Given the description of an element on the screen output the (x, y) to click on. 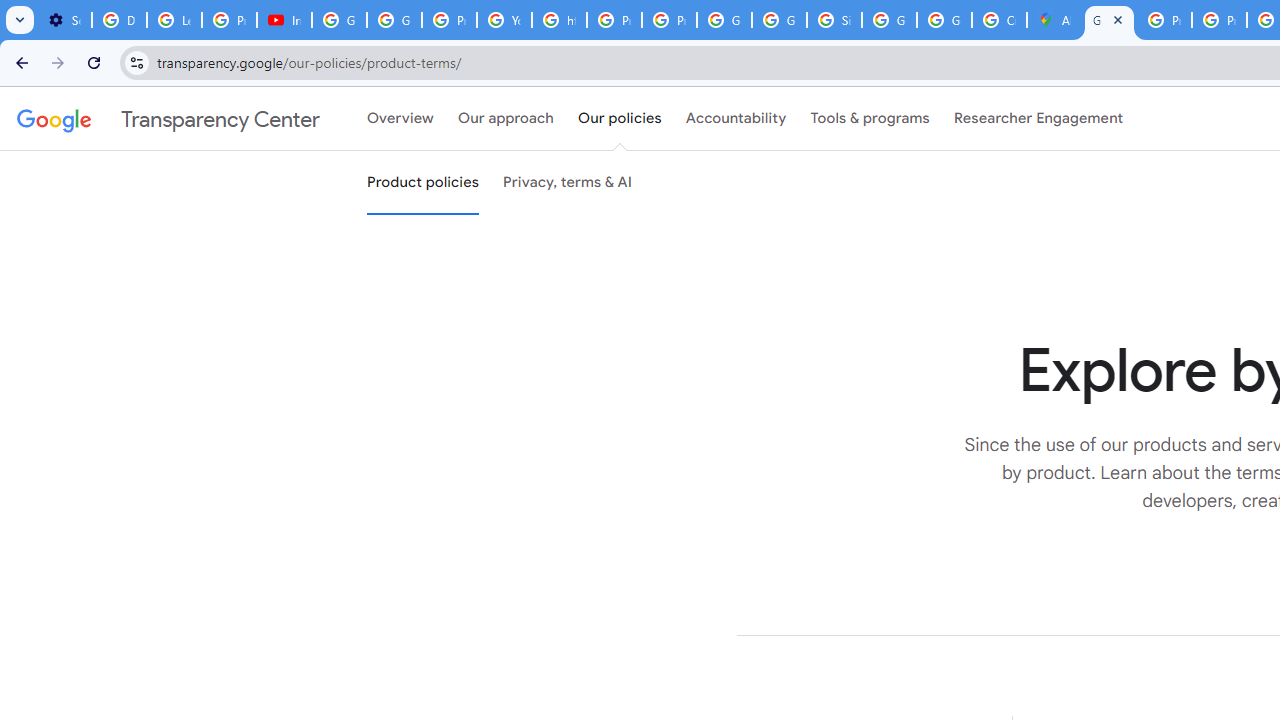
Accountability (735, 119)
Google Account Help (339, 20)
Introduction | Google Privacy Policy - YouTube (284, 20)
Sign in - Google Accounts (833, 20)
Privacy, terms & AI (568, 183)
YouTube (504, 20)
Privacy Help Center - Policies Help (614, 20)
Product policies (422, 183)
Our policies (619, 119)
